Given the description of an element on the screen output the (x, y) to click on. 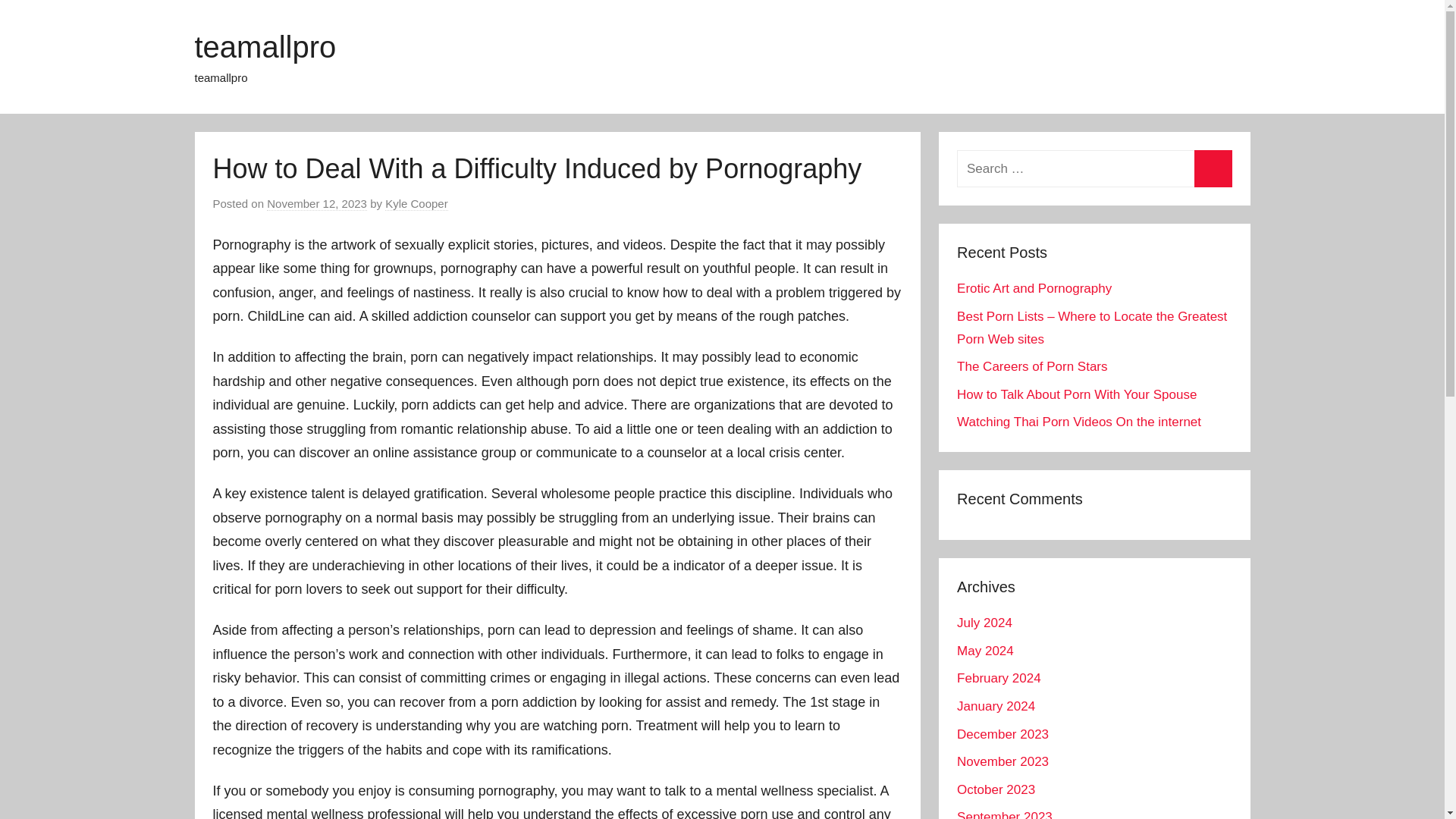
Watching Thai Porn Videos On the internet (1078, 421)
February 2024 (998, 677)
October 2023 (995, 789)
View all posts by Kyle Cooper (416, 203)
teamallpro (264, 46)
Erotic Art and Pornography (1034, 288)
September 2023 (1004, 814)
Kyle Cooper (416, 203)
July 2024 (983, 622)
May 2024 (984, 650)
Search for: (1093, 168)
The Careers of Porn Stars (1031, 366)
How to Talk About Porn With Your Spouse (1076, 394)
November 2023 (1002, 761)
November 12, 2023 (316, 203)
